Given the description of an element on the screen output the (x, y) to click on. 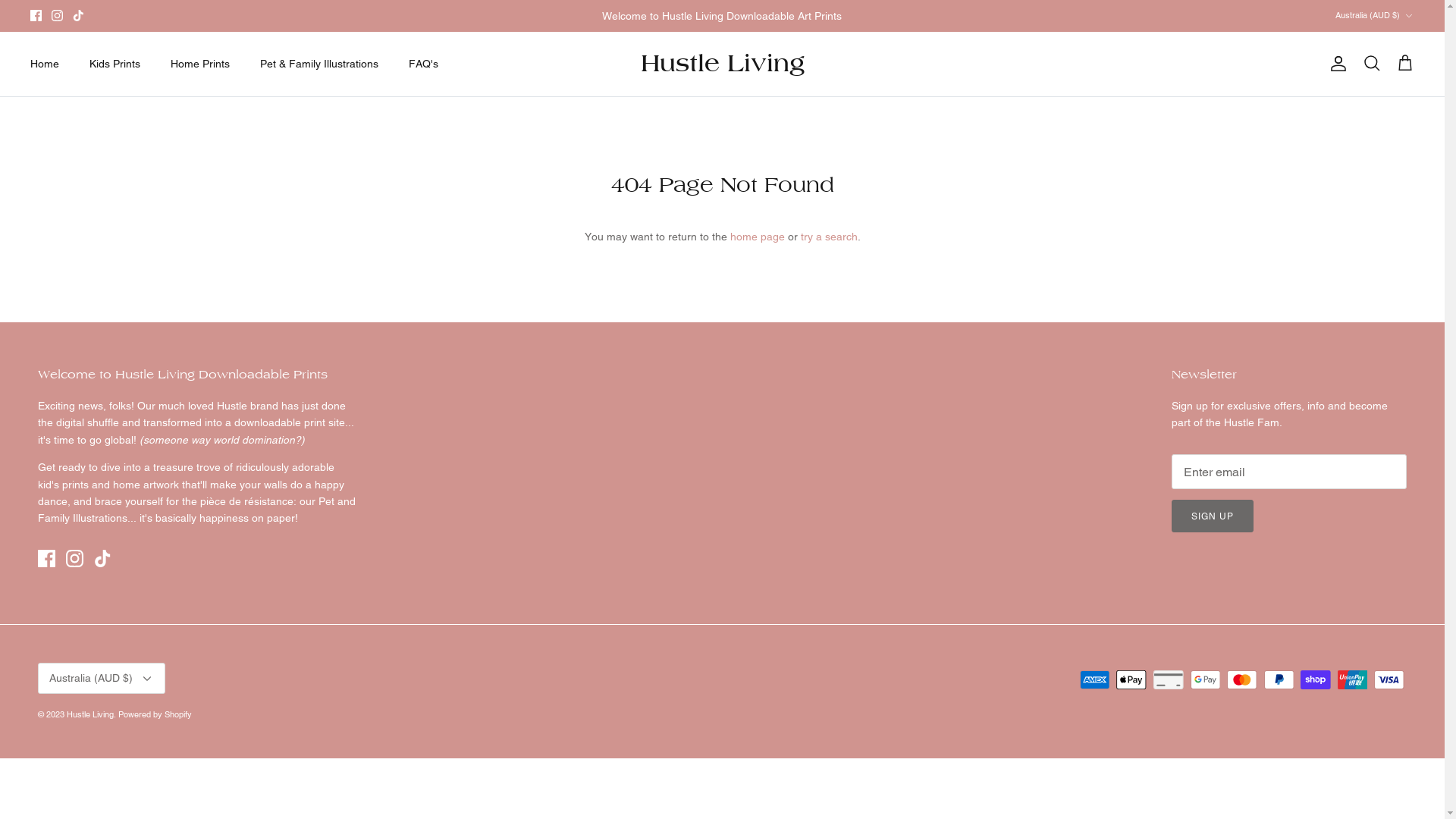
Hustle Living Element type: text (89, 714)
Facebook Element type: text (46, 558)
SIGN UP Element type: text (1212, 515)
Pet & Family Illustrations Element type: text (319, 63)
Powered by Shopify Element type: text (154, 714)
FAQ's Element type: text (423, 63)
try a search Element type: text (828, 236)
Kids Prints Element type: text (114, 63)
Facebook Element type: text (35, 15)
Home Prints Element type: text (199, 63)
Instagram Element type: text (56, 15)
Account Element type: text (1335, 63)
home page Element type: text (756, 236)
Hustle Living Element type: text (721, 64)
Cart Element type: text (1405, 63)
Search Element type: text (1371, 63)
Australia (AUD $)
Down Element type: text (1374, 15)
Instagram Element type: text (74, 558)
Home Element type: text (44, 63)
Australia (AUD $)
Down Element type: text (101, 677)
